Given the description of an element on the screen output the (x, y) to click on. 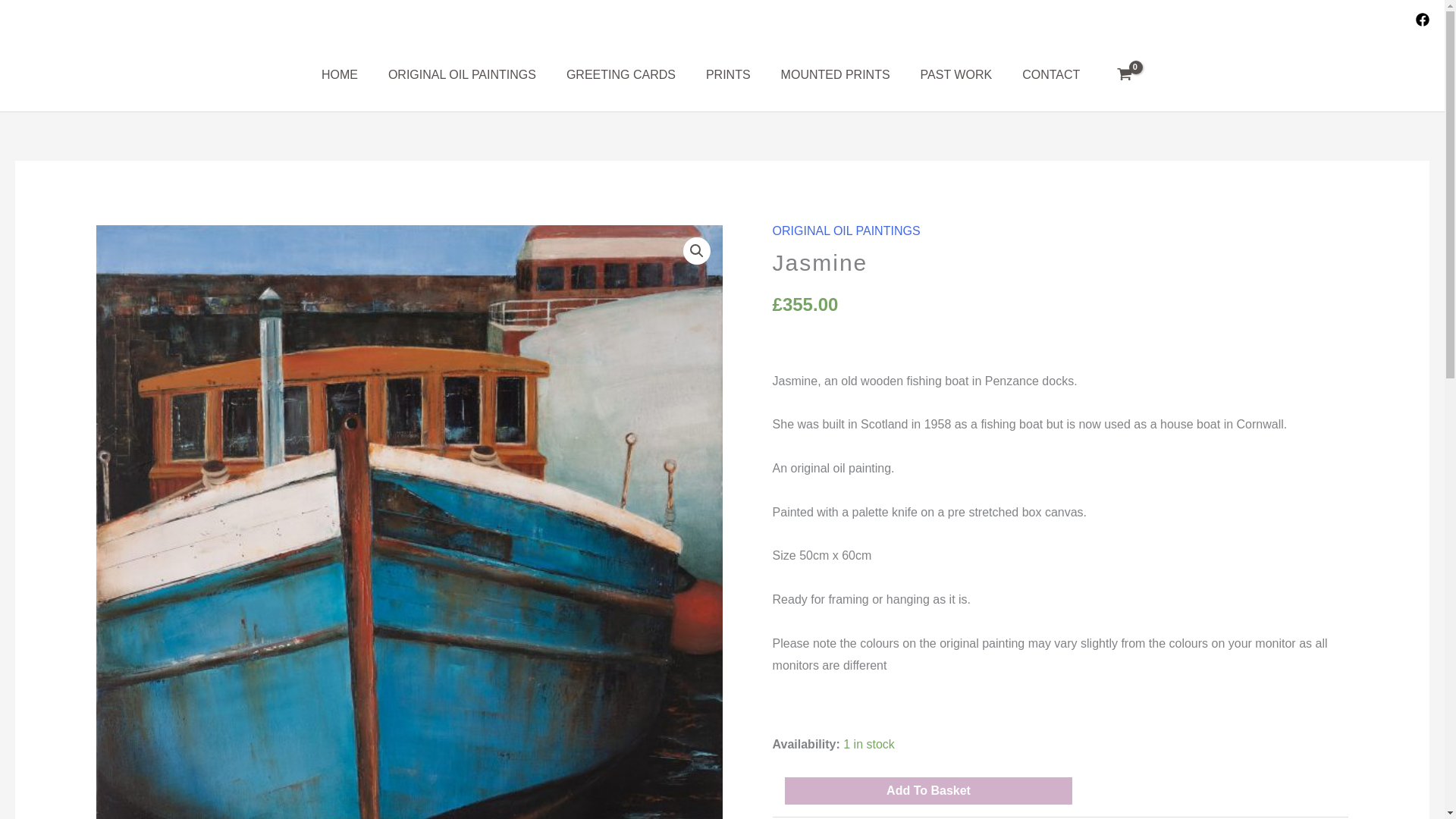
Add To Basket (928, 790)
ORIGINAL OIL PAINTINGS (461, 74)
MOUNTED PRINTS (835, 74)
HOME (338, 74)
GREETING CARDS (620, 74)
PRINTS (727, 74)
ORIGINAL OIL PAINTINGS (846, 230)
PAST WORK (956, 74)
CONTACT (1050, 74)
